Given the description of an element on the screen output the (x, y) to click on. 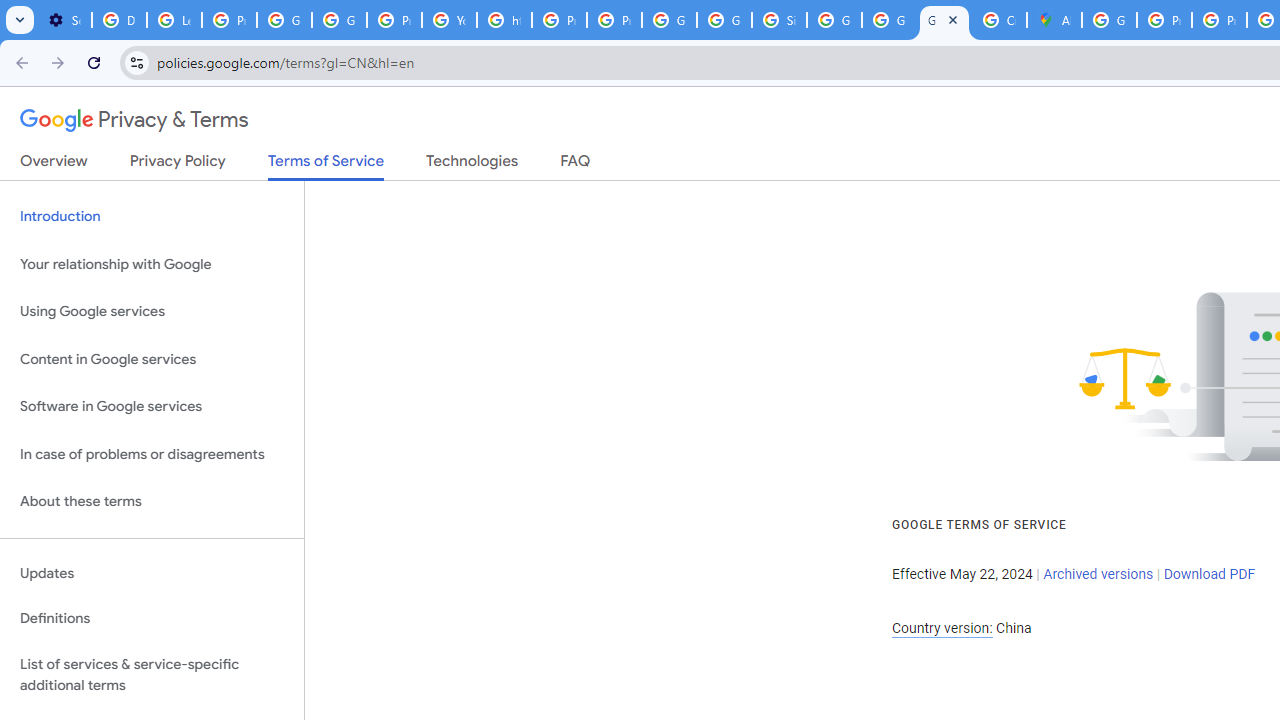
Privacy Help Center - Policies Help (559, 20)
Archived versions (1098, 574)
Google Account Help (284, 20)
List of services & service-specific additional terms (152, 674)
Privacy Help Center - Policies Help (1218, 20)
Technologies (472, 165)
Definitions (152, 619)
Privacy & Terms (134, 120)
